Given the description of an element on the screen output the (x, y) to click on. 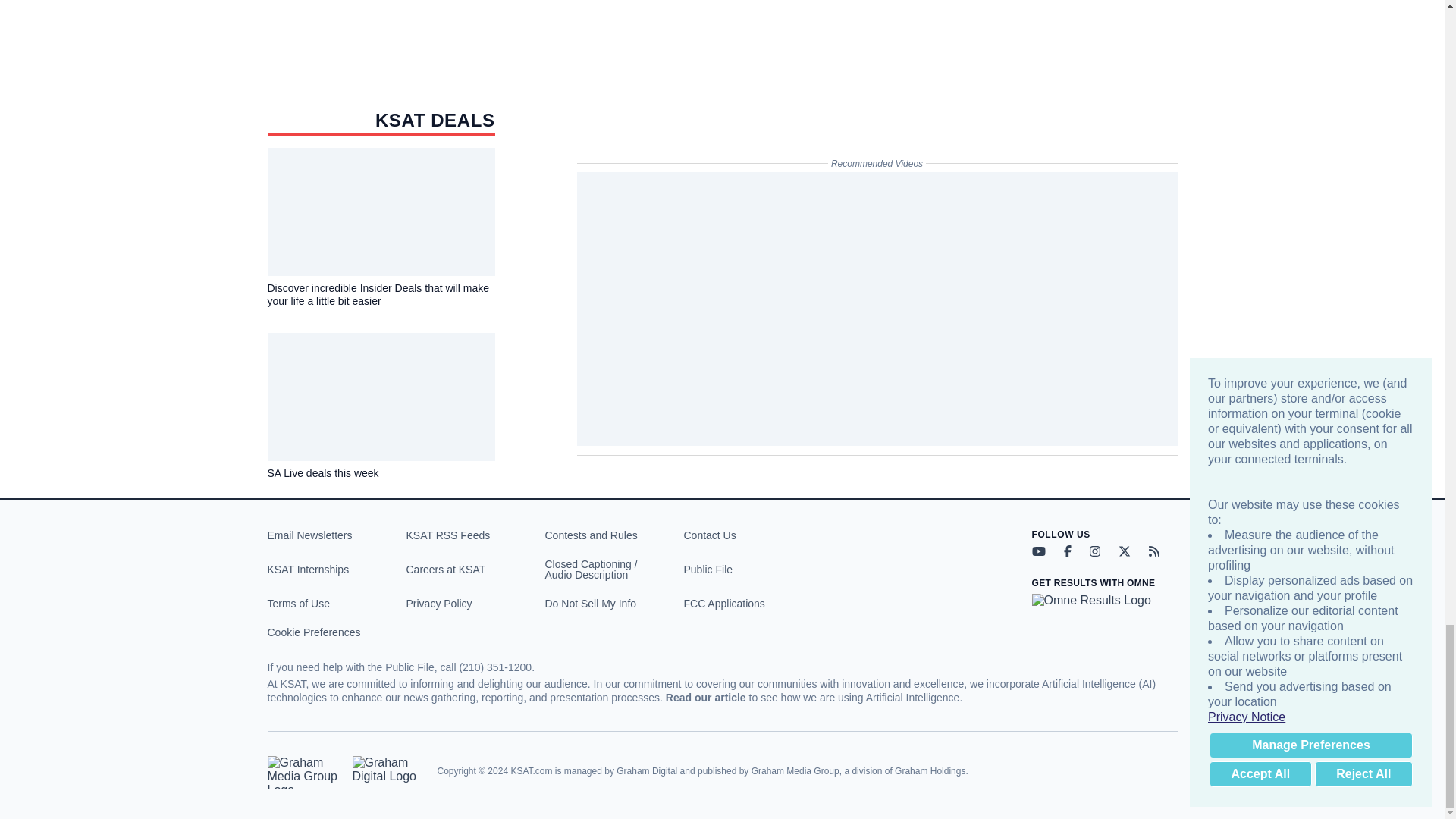
twitter (1123, 551)
youtube (1037, 551)
